Given the description of an element on the screen output the (x, y) to click on. 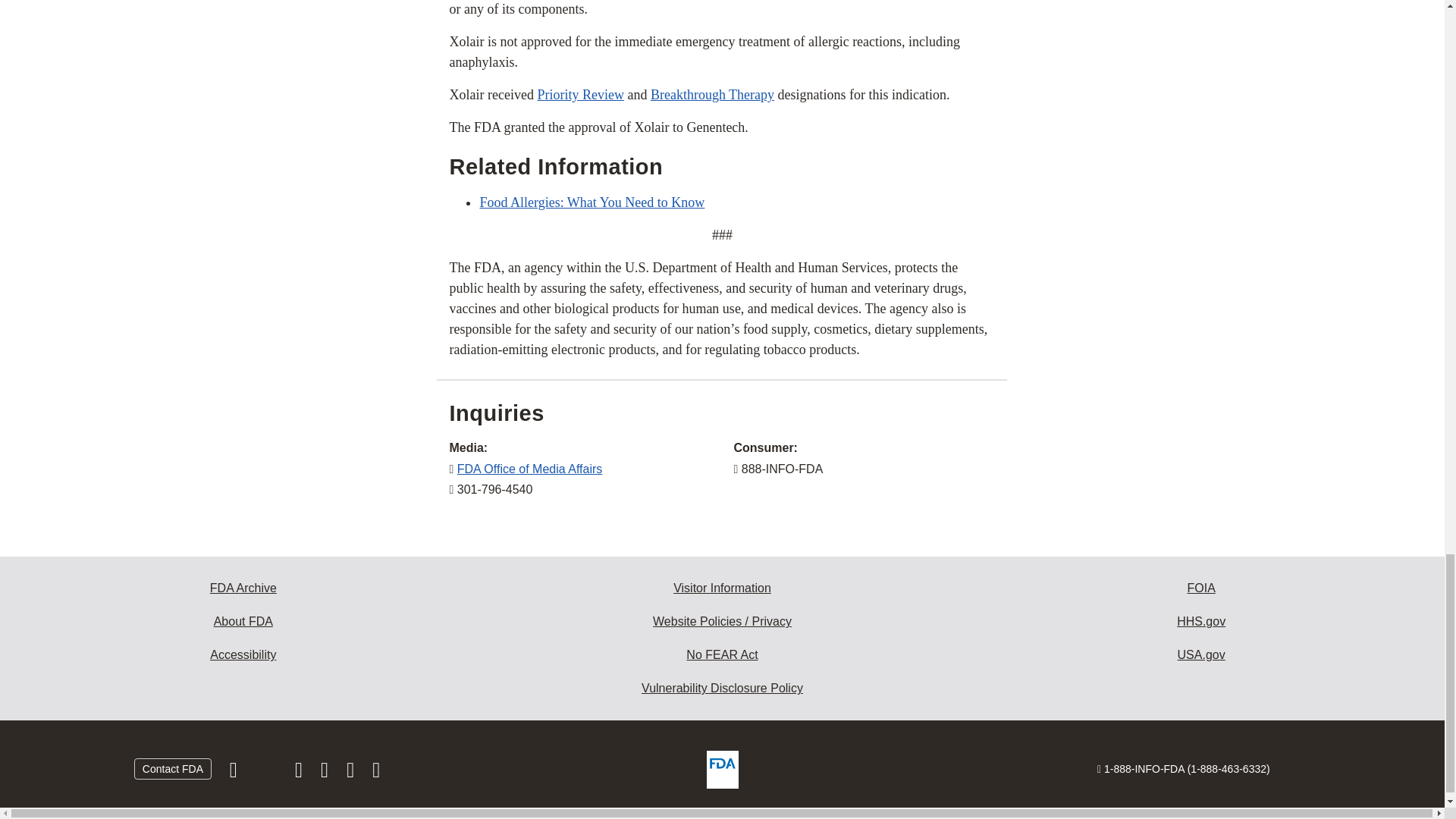
Breakthrough Therapy (712, 94)
Freedom of Information Act (1200, 588)
Follow FDA on LinkedIn (326, 773)
Subscribe to FDA RSS feeds (376, 773)
Priority Review (580, 94)
Follow FDA on Instagram (299, 773)
Follow FDA on Facebook (234, 773)
Health and Human Services (1200, 621)
View FDA videos on YouTube (352, 773)
Follow FDA on X (266, 773)
Food Allergies: What You Need to Know (591, 201)
